Given the description of an element on the screen output the (x, y) to click on. 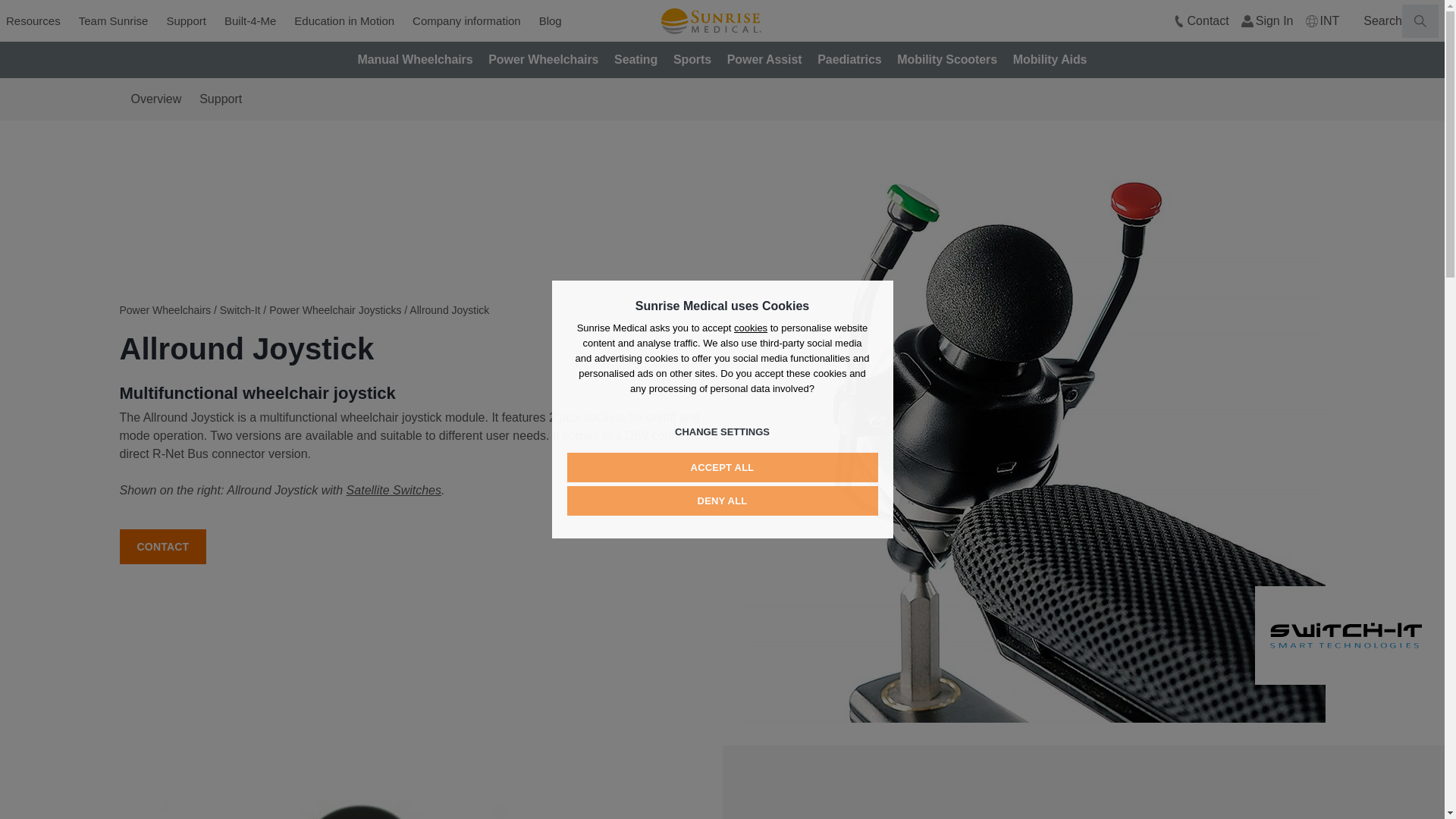
Team Sunrise (113, 20)
Deny All (722, 500)
Sign In (1267, 21)
INT (1322, 21)
Resources (33, 20)
Support (186, 20)
Company information (466, 20)
Manual Wheelchairs (415, 59)
layout.sunrise-logo-alt (711, 20)
Accept All (722, 467)
Search (29, 20)
Built-4-Me (250, 20)
Education in Motion (344, 20)
Contact (1200, 21)
Power Wheelchairs (542, 59)
